Given the description of an element on the screen output the (x, y) to click on. 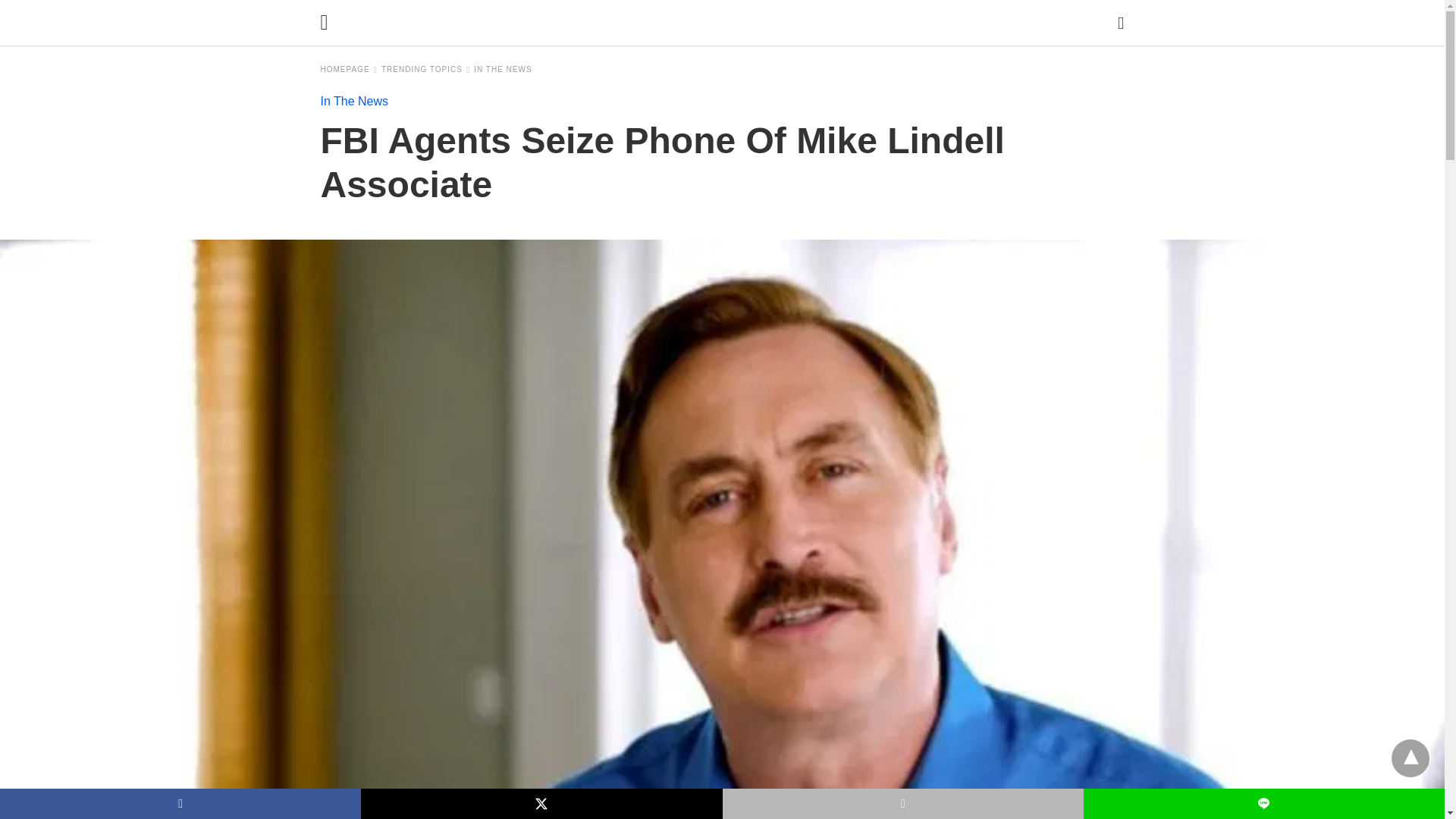
In The News (354, 101)
Trending Topics (425, 69)
In The News (502, 69)
Homepage (348, 69)
HOMEPAGE (348, 69)
TRENDING TOPICS (425, 69)
IN THE NEWS (502, 69)
Conservative Daily News (725, 22)
In The News (354, 101)
